Given the description of an element on the screen output the (x, y) to click on. 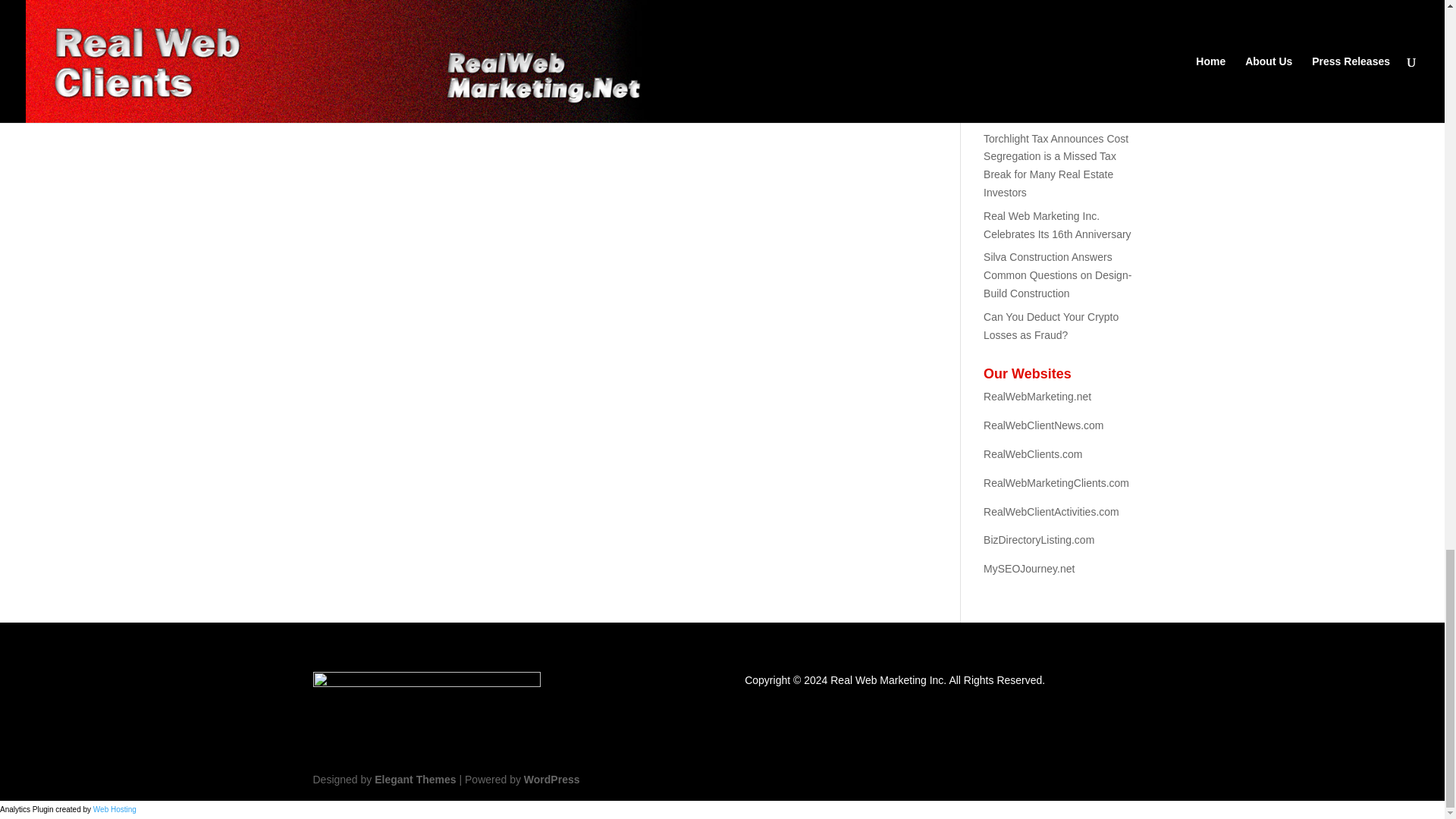
Premium WordPress Themes (414, 779)
